Given the description of an element on the screen output the (x, y) to click on. 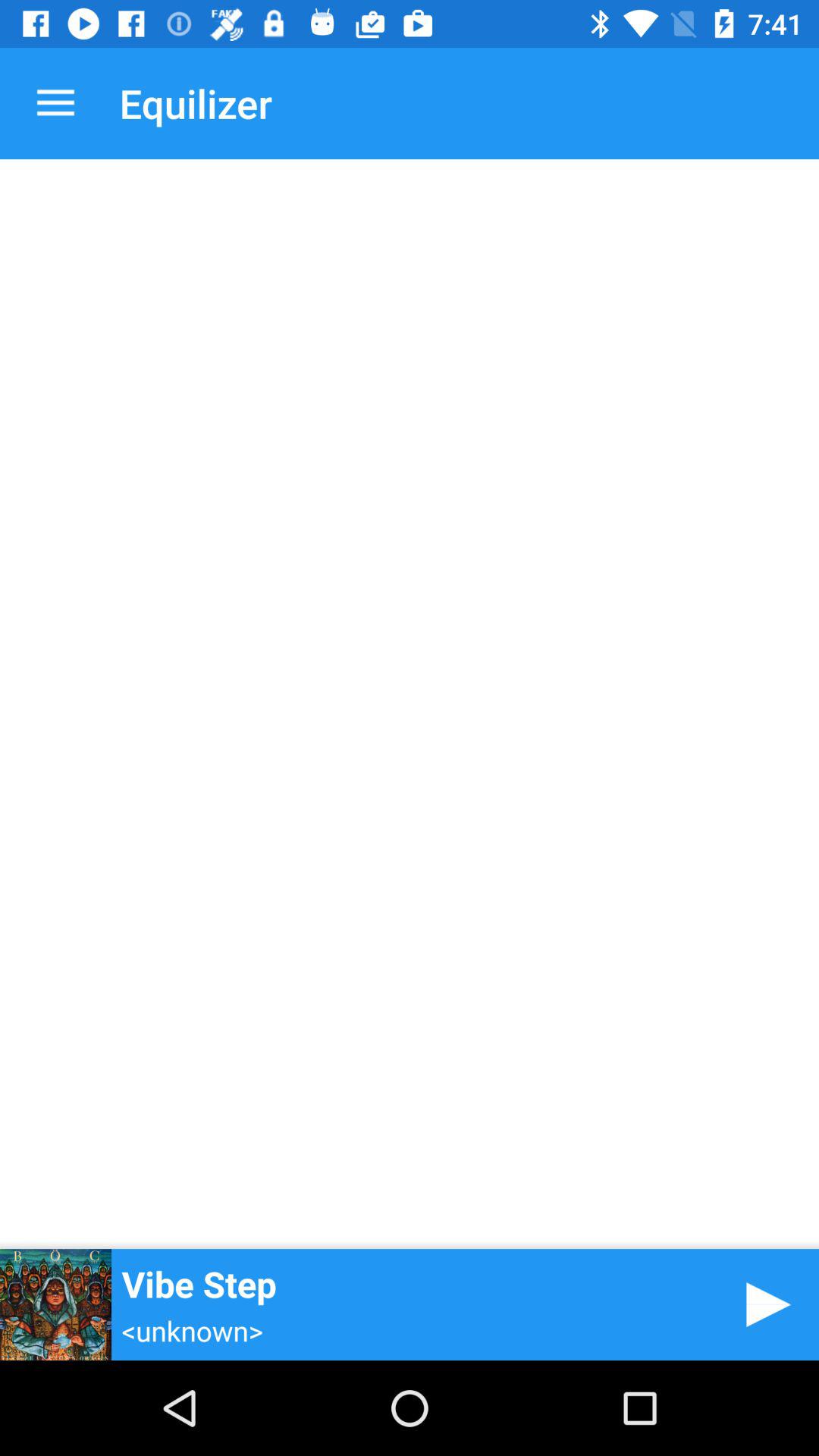
press icon to the right of the vibe step item (763, 1304)
